Given the description of an element on the screen output the (x, y) to click on. 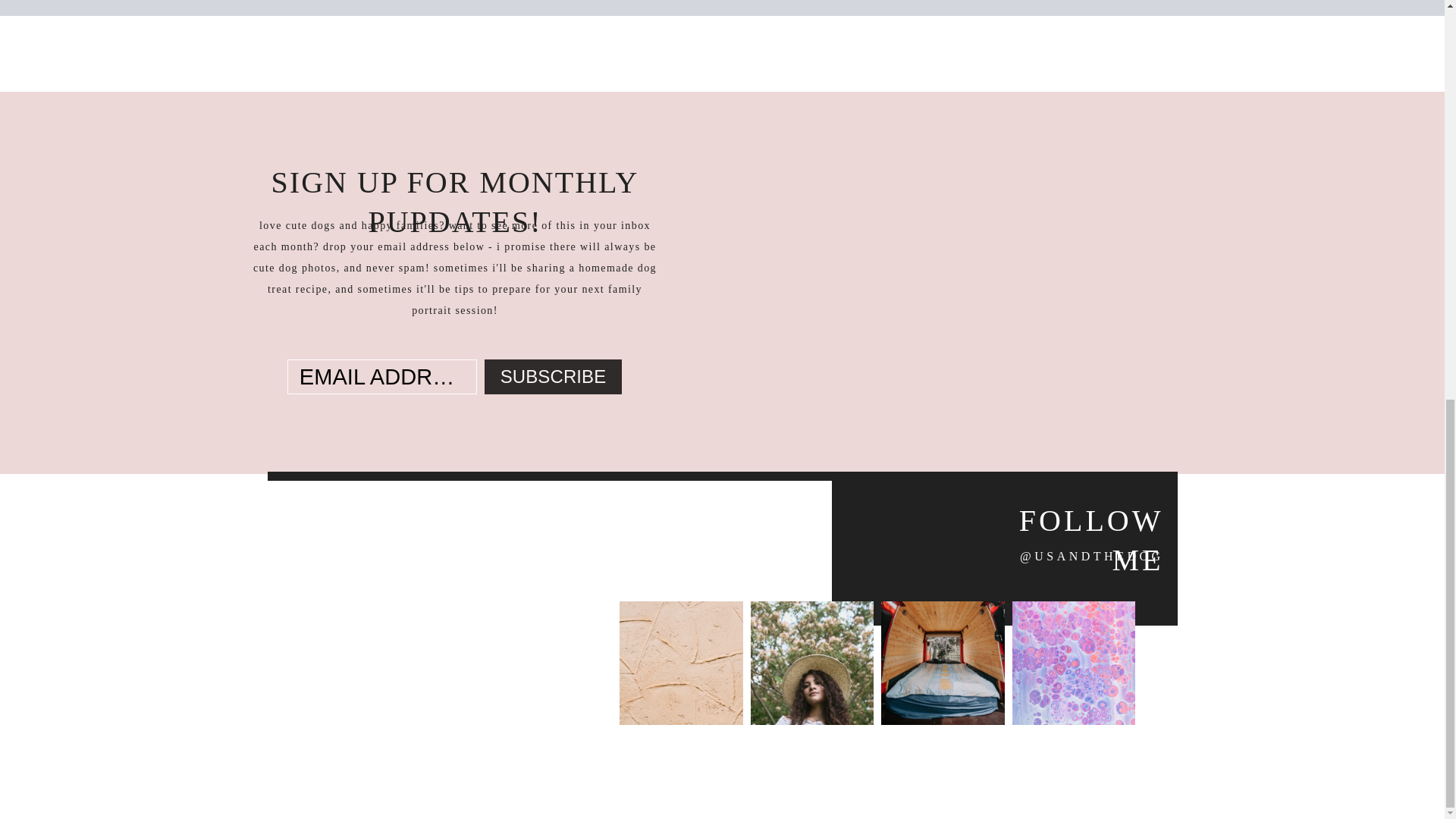
PH. 724.561.9990 (342, 647)
GET MY WORK ON YOUR WALLS! (426, 736)
showit (906, 796)
woone (604, 796)
SUBSCRIBE (553, 376)
